Given the description of an element on the screen output the (x, y) to click on. 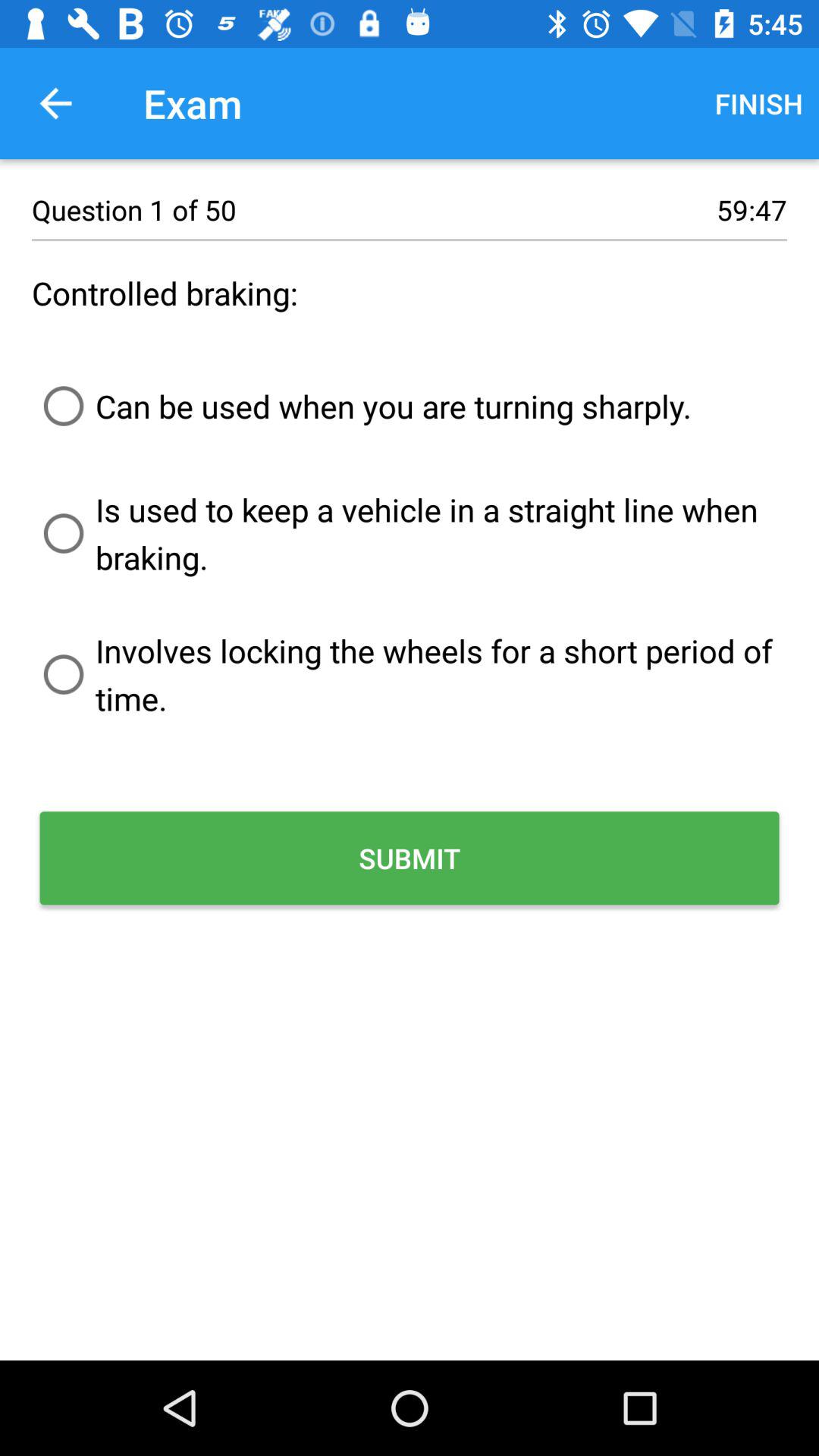
choose the icon below the controlled braking: icon (361, 405)
